Given the description of an element on the screen output the (x, y) to click on. 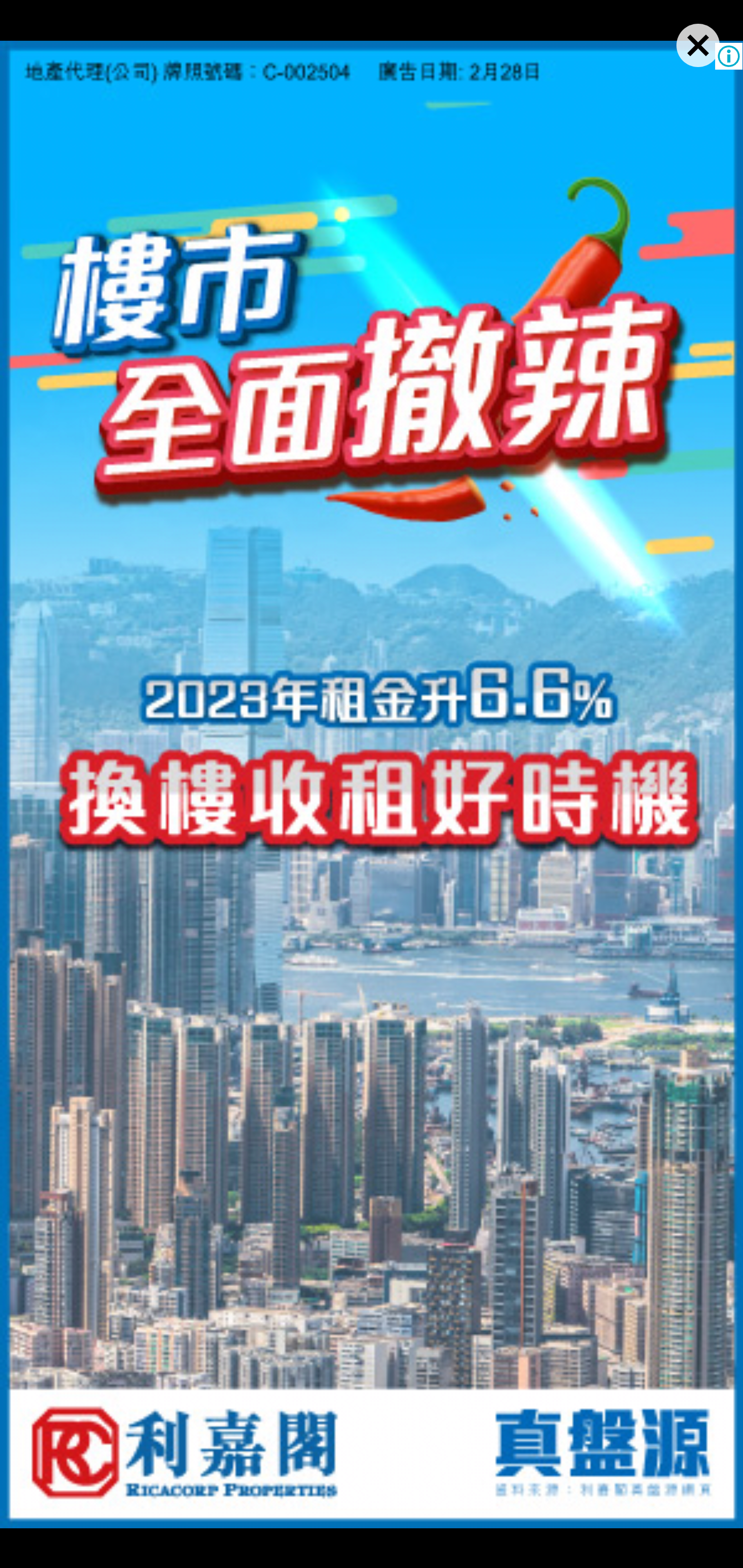
Interstitial close button (679, 63)
